Given the description of an element on the screen output the (x, y) to click on. 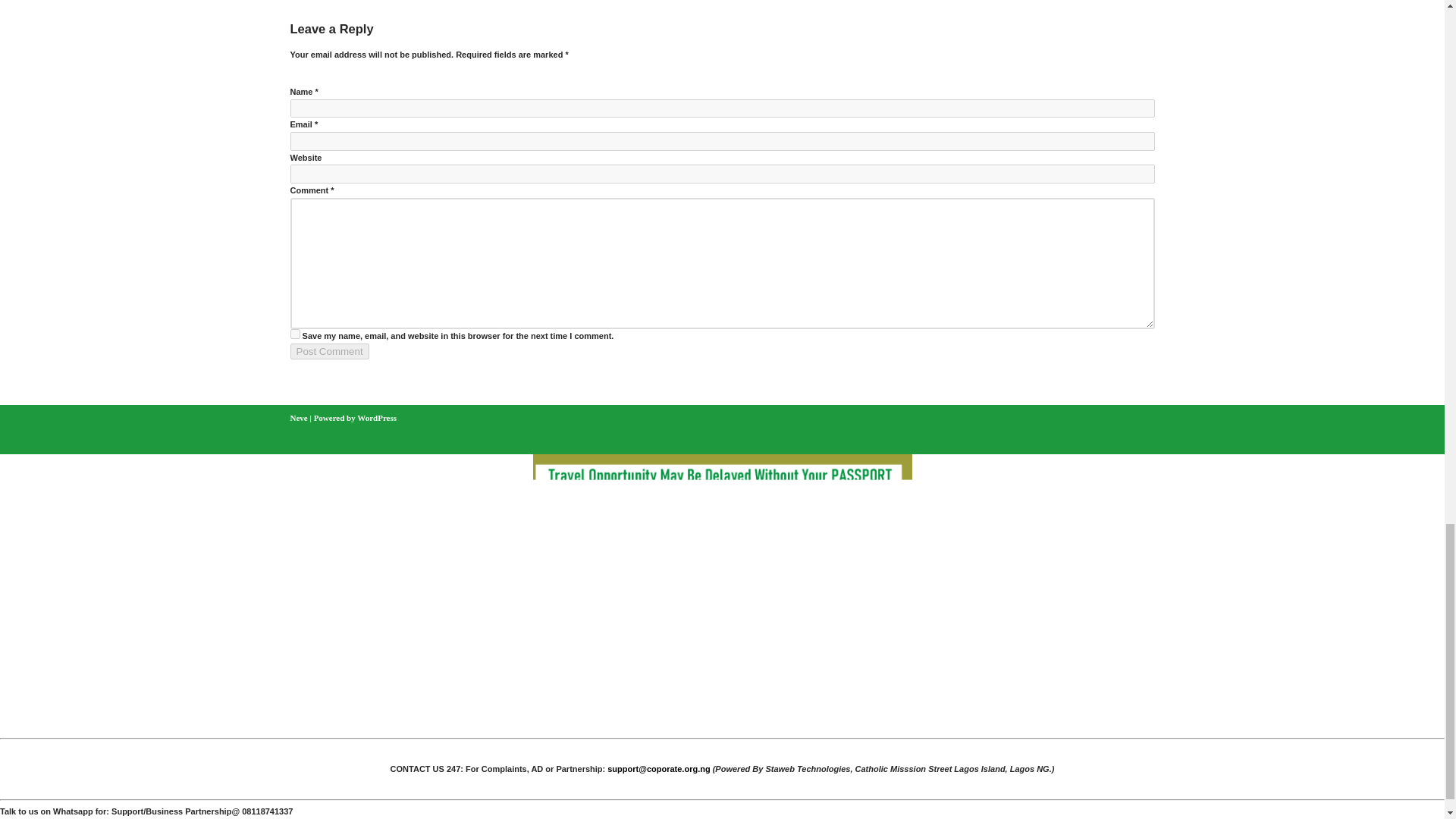
yes (294, 334)
Post Comment (328, 351)
Post Comment (328, 351)
WordPress (376, 417)
Neve (298, 417)
